Given the description of an element on the screen output the (x, y) to click on. 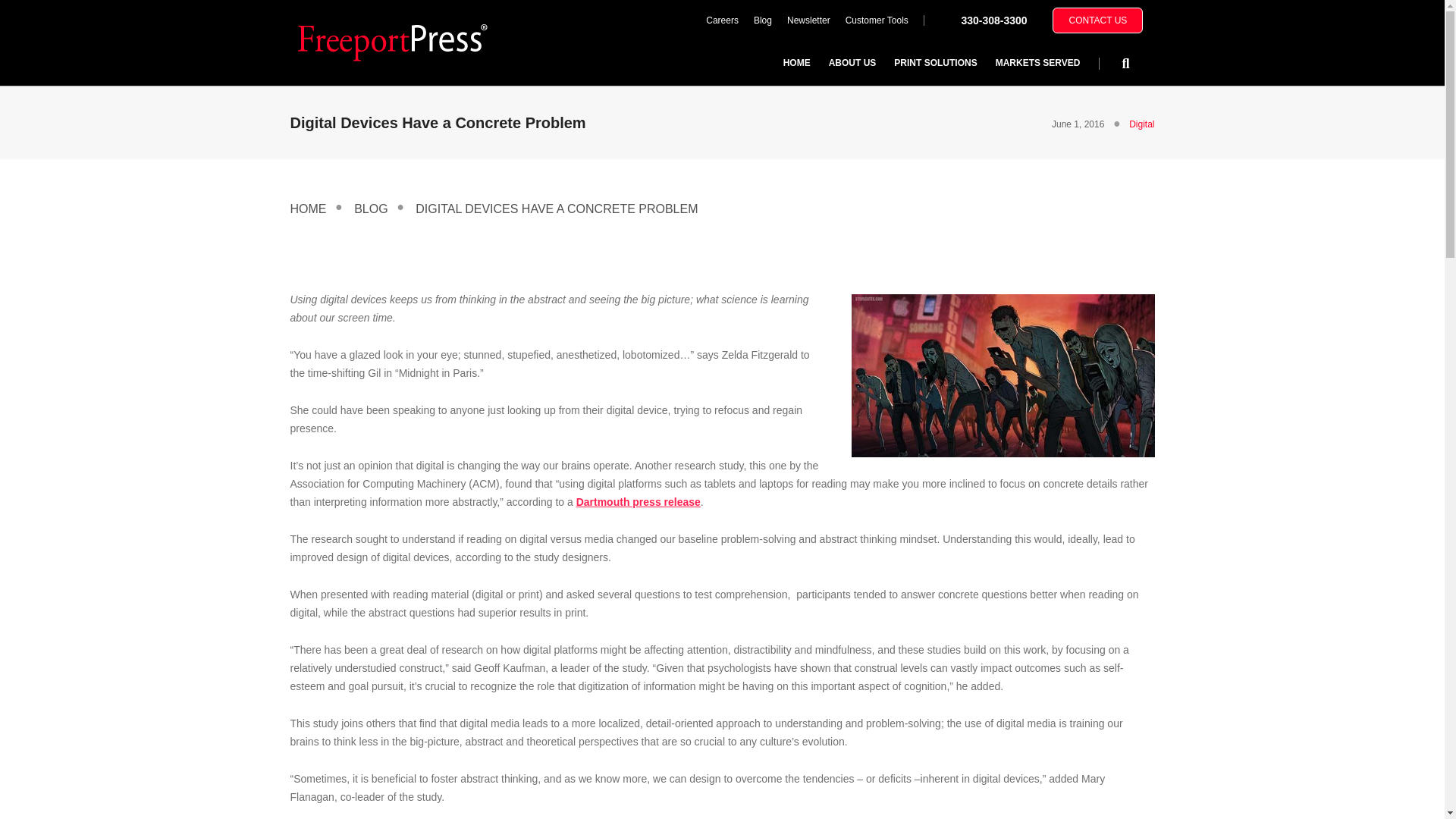
HOME (796, 62)
PRINT SOLUTIONS (935, 62)
Careers (721, 20)
Customer Tools (876, 20)
CONTACT US (1097, 20)
MARKETS SERVED (1038, 62)
Blog (761, 20)
Newsletter (808, 20)
330-308-3300 (993, 20)
ABOUT US (852, 62)
